Given the description of an element on the screen output the (x, y) to click on. 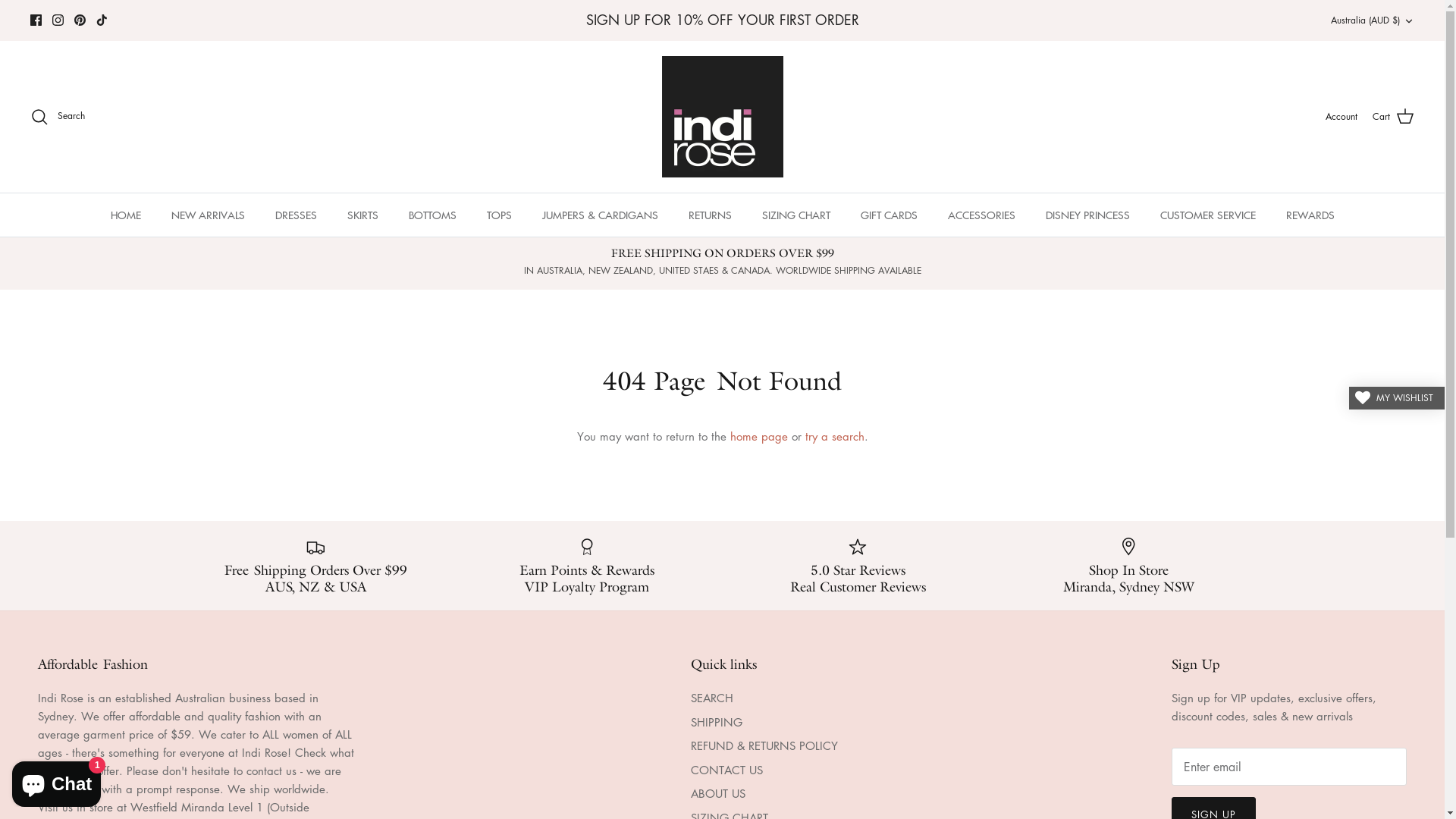
MY WISHLIST Element type: text (1396, 397)
GIFT CARDS Element type: text (888, 214)
NEW ARRIVALS Element type: text (207, 214)
DISNEY PRINCESS Element type: text (1086, 214)
Account Element type: text (1341, 116)
try a search Element type: text (834, 435)
Indi Rose Fashion Australia Element type: hover (721, 116)
BOTTOMS Element type: text (431, 214)
REWARDS Element type: text (1310, 214)
Australia (AUD $)
Down Element type: text (1372, 20)
SEARCH Element type: text (711, 697)
DRESSES Element type: text (294, 214)
SHIPPING Element type: text (715, 721)
CUSTOMER SERVICE Element type: text (1207, 214)
RETURNS Element type: text (709, 214)
Instagram Element type: text (57, 19)
HOME Element type: text (125, 214)
Pinterest Element type: text (79, 19)
JUMPERS & CARDIGANS Element type: text (599, 214)
SKIRTS Element type: text (362, 214)
Earn Points & Rewards
VIP Loyalty Program Element type: text (586, 565)
Shop In Store
Miranda, Sydney NSW Element type: text (1128, 565)
ACCESSORIES Element type: text (981, 214)
ABOUT US Element type: text (717, 792)
Free Shipping Orders Over $99 
AUS, NZ & USA Element type: text (315, 565)
home page Element type: text (758, 435)
SIZING CHART Element type: text (795, 214)
Shopify online store chat Element type: hover (56, 780)
REFUND & RETURNS POLICY Element type: text (763, 745)
Cart Element type: text (1393, 116)
CONTACT US Element type: text (726, 769)
TOPS Element type: text (499, 214)
Facebook Element type: text (35, 19)
Search Element type: text (57, 116)
